Given the description of an element on the screen output the (x, y) to click on. 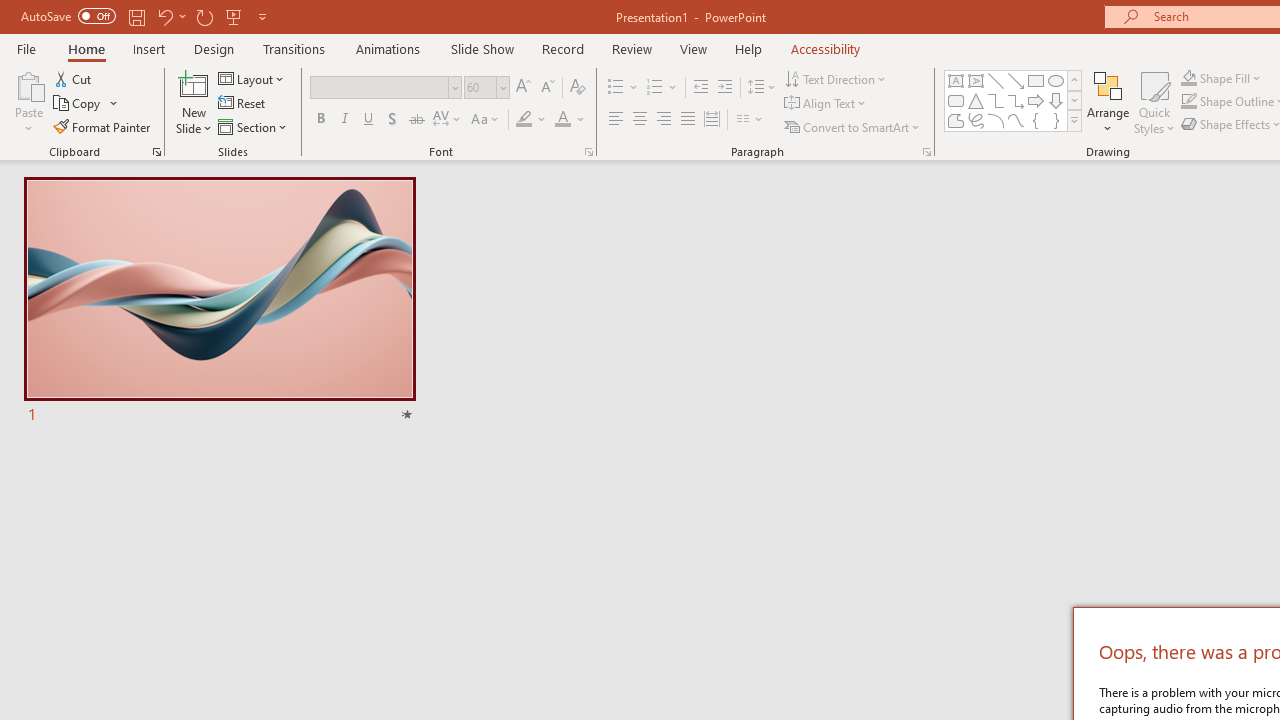
Shape Fill Orange, Accent 2 (1188, 78)
